Given the description of an element on the screen output the (x, y) to click on. 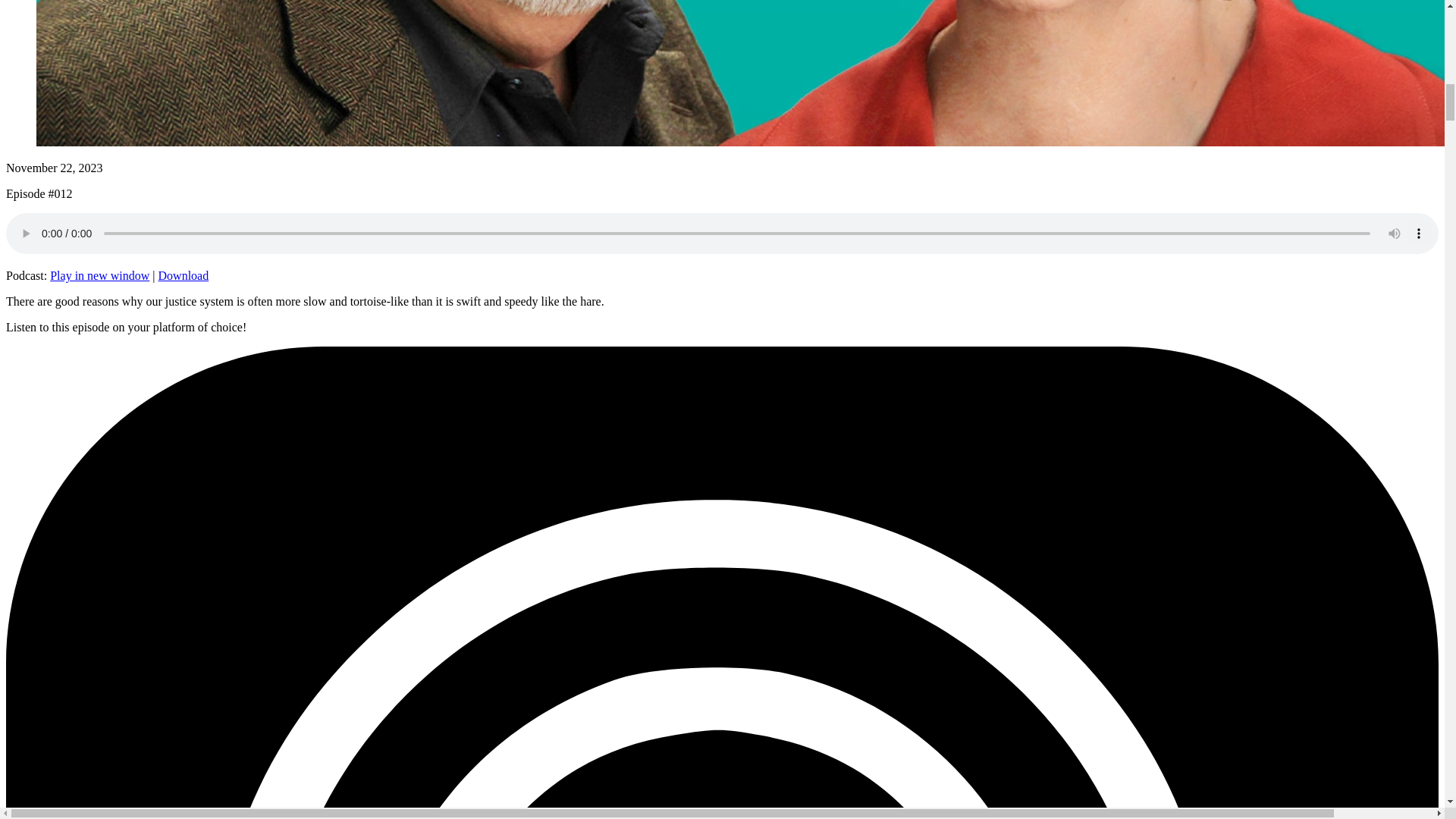
Download (183, 275)
Play in new window (99, 275)
Download (183, 275)
Play in new window (99, 275)
